Given the description of an element on the screen output the (x, y) to click on. 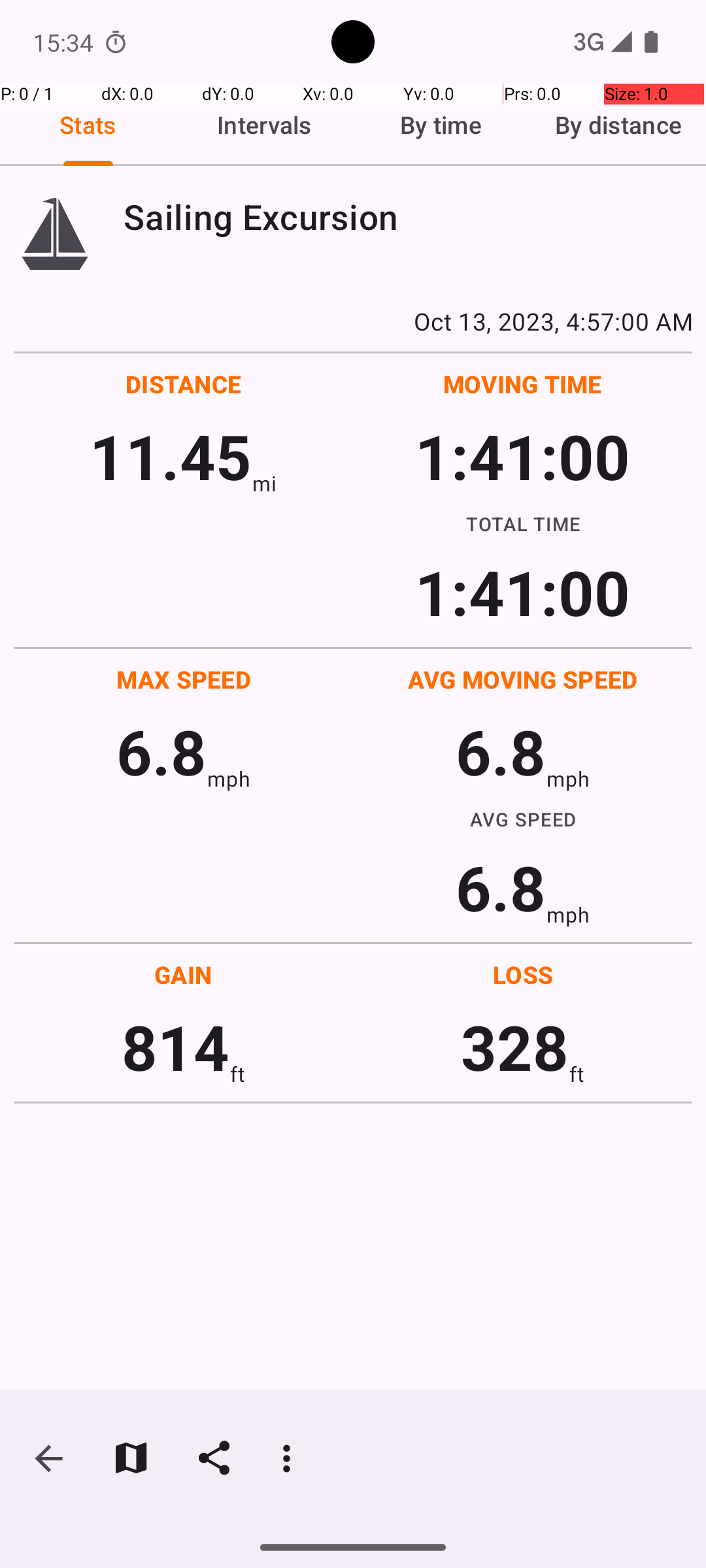
Sailing Excursion Element type: android.widget.TextView (407, 216)
Oct 13, 2023, 4:57:00 AM Element type: android.widget.TextView (352, 320)
11.45 Element type: android.widget.TextView (170, 455)
1:41:00 Element type: android.widget.TextView (522, 455)
6.8 Element type: android.widget.TextView (161, 750)
814 Element type: android.widget.TextView (175, 1045)
328 Element type: android.widget.TextView (514, 1045)
